Given the description of an element on the screen output the (x, y) to click on. 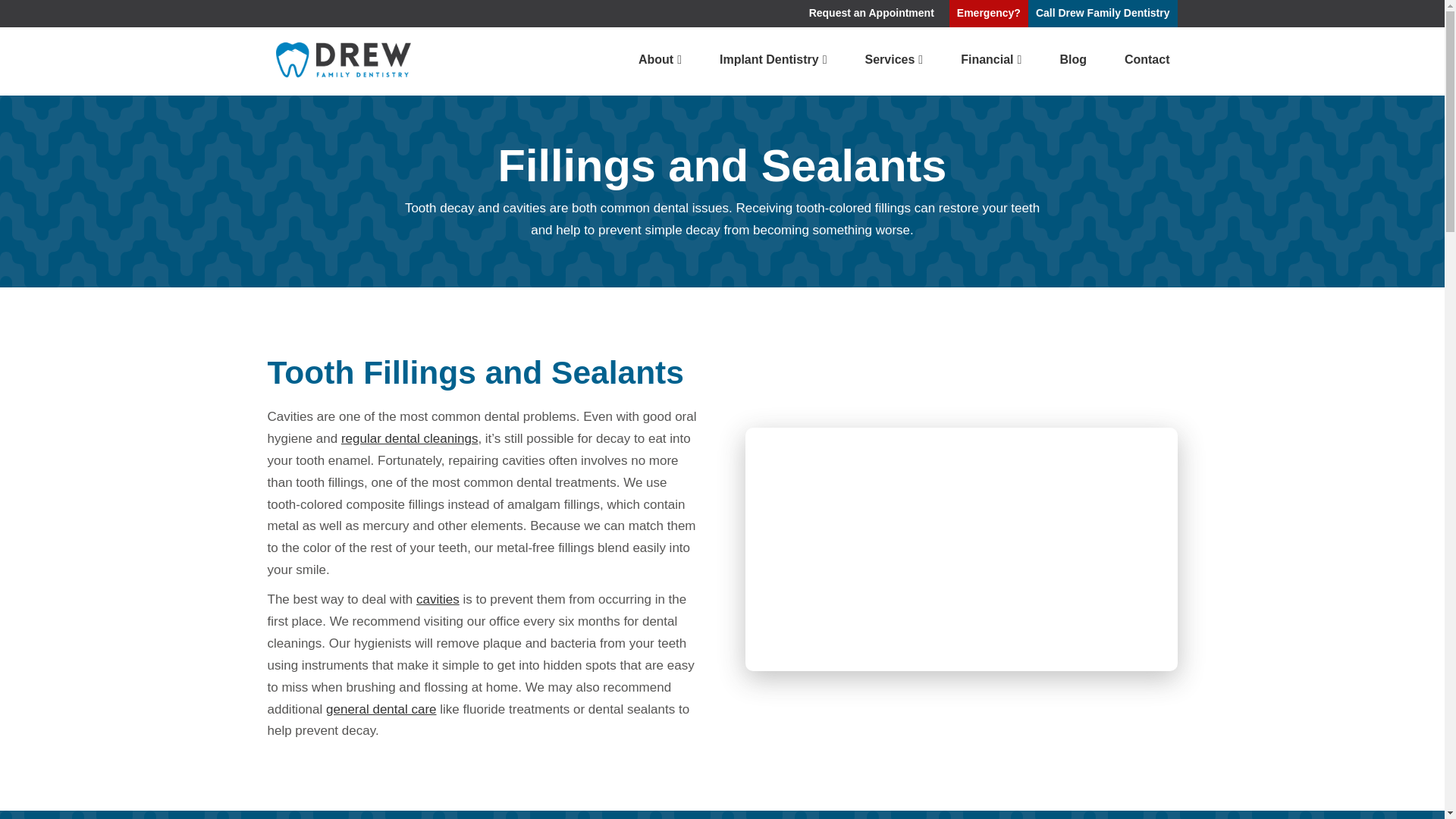
Implant Dentistry (772, 60)
Blog (1072, 60)
Services (893, 60)
Call Drew Family Dentistry (1102, 13)
Financial (991, 60)
Contact (1146, 60)
YouTube video player (960, 548)
About (659, 60)
Emergency? (988, 13)
Request an Appointment (872, 13)
